Given the description of an element on the screen output the (x, y) to click on. 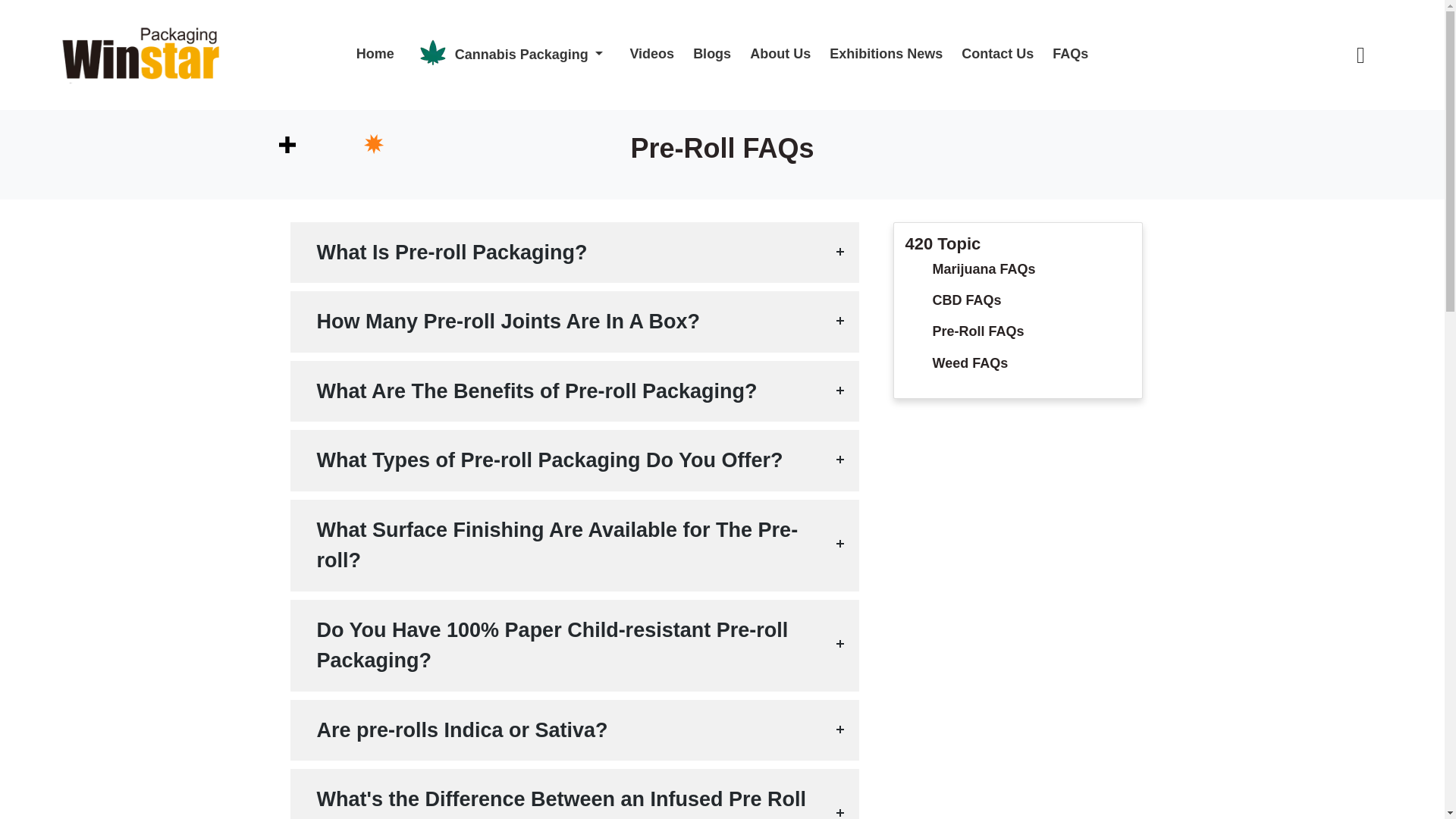
FAQs (1061, 54)
Blogs (704, 54)
About Us (772, 54)
Exhibitions News (877, 54)
Videos (644, 54)
Home (375, 54)
Cannabis Packaging (504, 54)
Contact Us (989, 54)
